Given the description of an element on the screen output the (x, y) to click on. 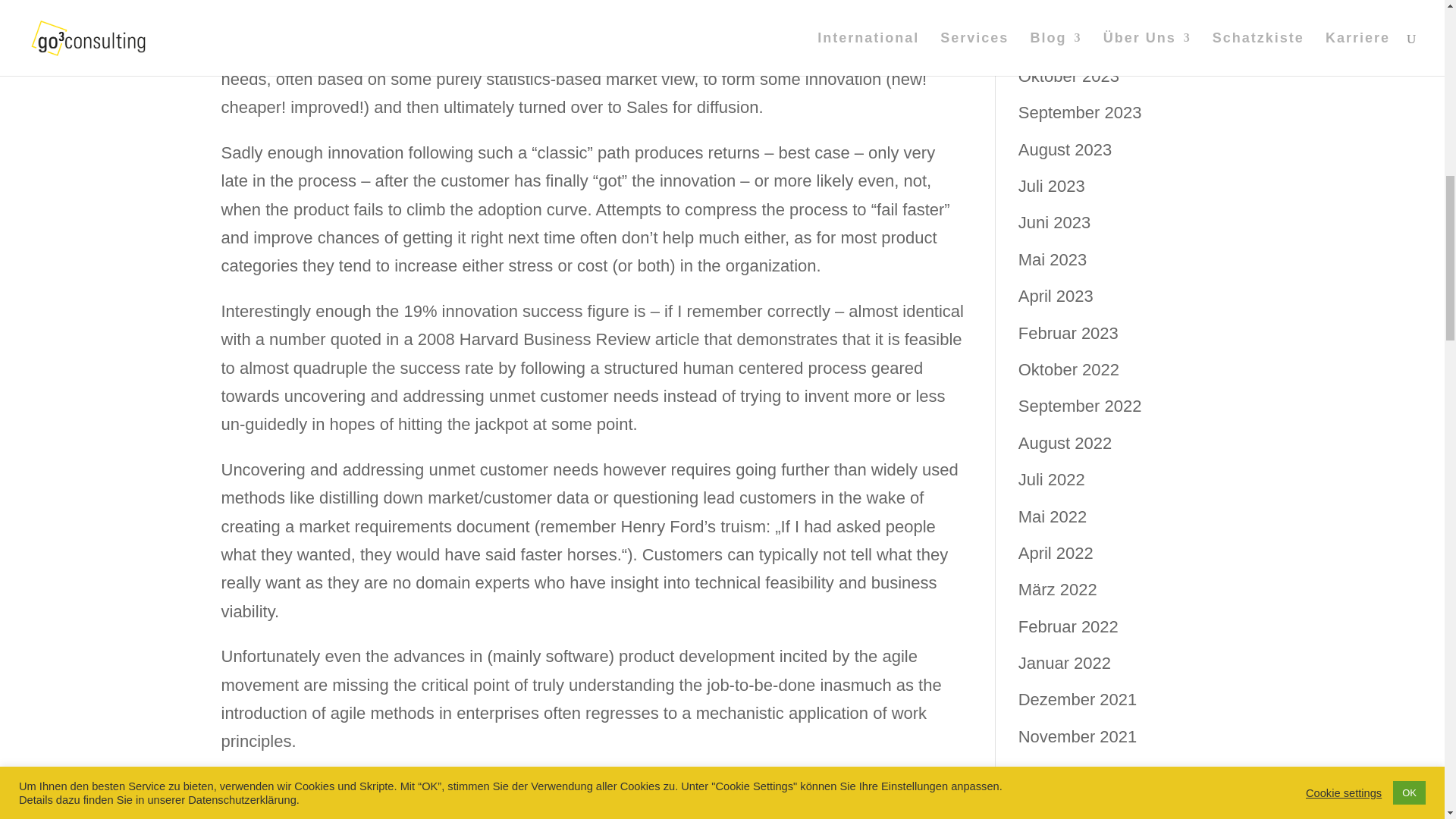
August 2022 (1064, 443)
Oktober 2023 (1068, 75)
November 2023 (1077, 38)
September 2023 (1079, 112)
April 2023 (1055, 295)
Juni 2023 (1053, 221)
Dezember 2023 (1077, 6)
Februar 2023 (1067, 333)
Juli 2023 (1050, 185)
Mai 2023 (1052, 259)
August 2023 (1064, 149)
September 2022 (1079, 405)
Oktober 2022 (1068, 369)
